Given the description of an element on the screen output the (x, y) to click on. 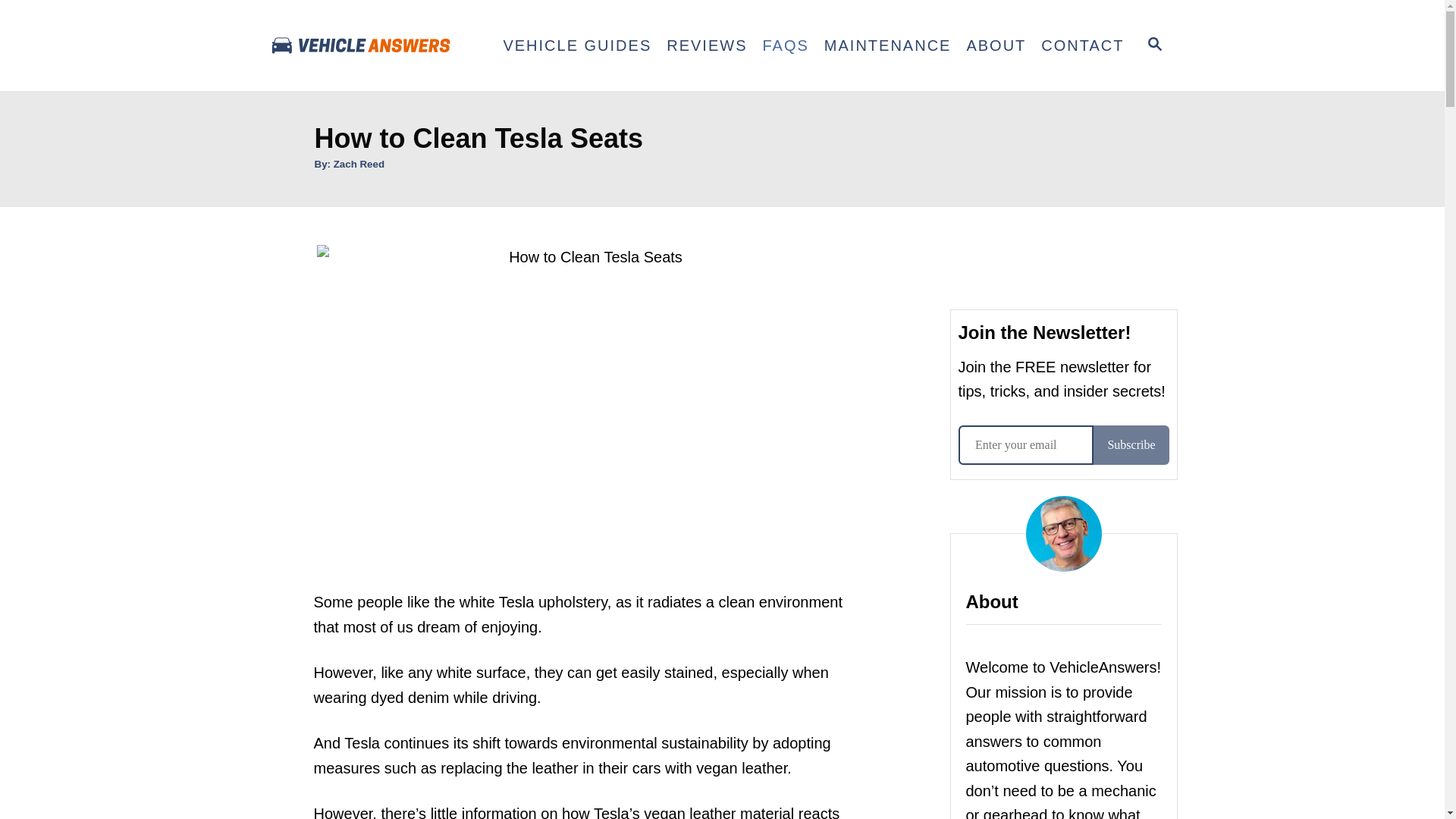
Vehicle Answers (380, 45)
ABOUT (995, 45)
SEARCH (1154, 45)
REVIEWS (706, 45)
CONTACT (1082, 45)
MAINTENANCE (887, 45)
FAQS (784, 45)
VEHICLE GUIDES (577, 45)
Zach Reed (358, 163)
